Given the description of an element on the screen output the (x, y) to click on. 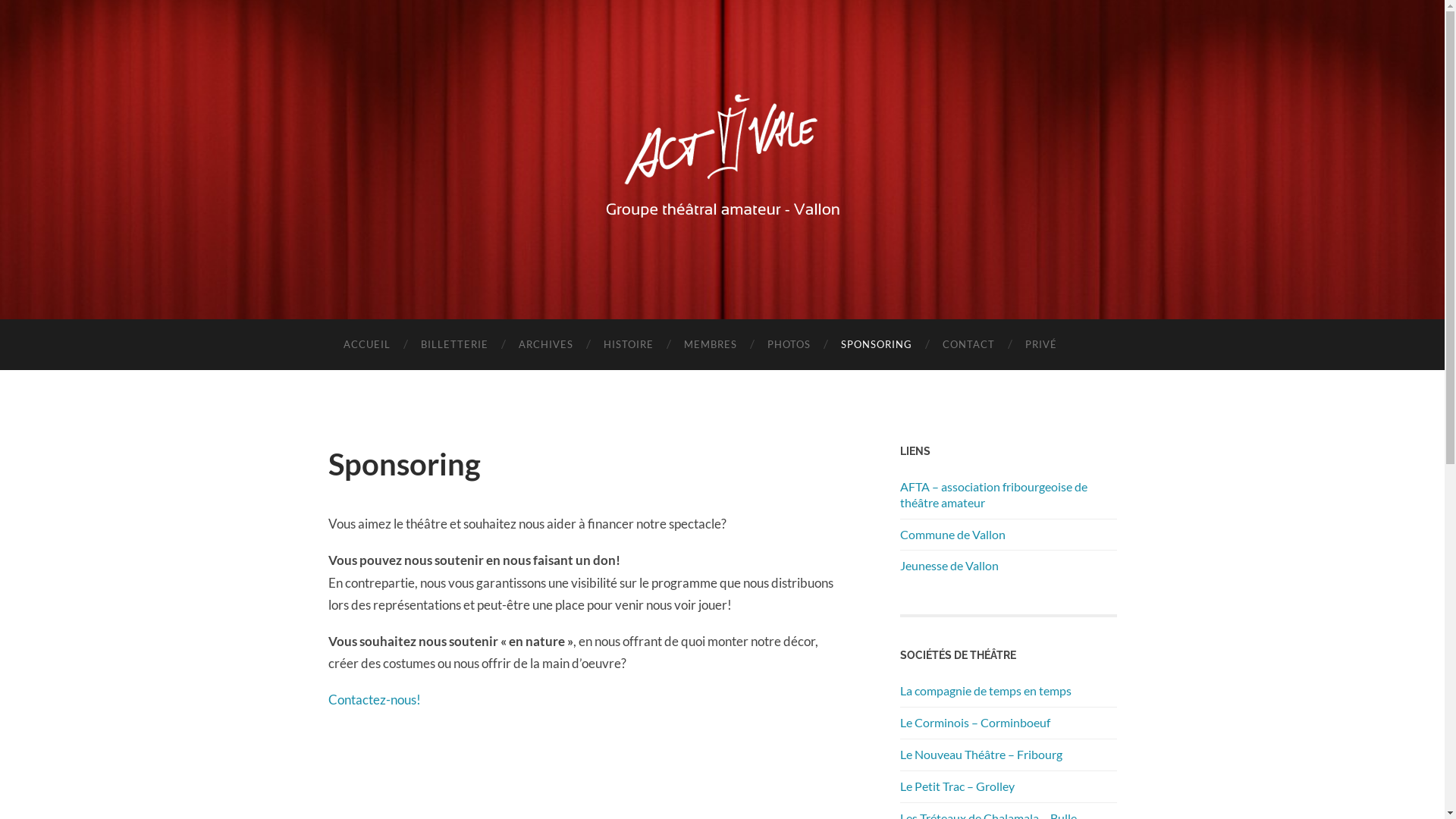
La compagnie de temps en temps Element type: text (984, 690)
HISTOIRE Element type: text (628, 344)
Jeunesse de Vallon Element type: text (948, 565)
PHOTOS Element type: text (788, 344)
Commune de Vallon Element type: text (951, 534)
MEMBRES Element type: text (710, 344)
Contactez-nous! Element type: text (373, 699)
BILLETTERIE Element type: text (453, 344)
CONTACT Element type: text (967, 344)
ARCHIVES Element type: text (545, 344)
ACCUEIL Element type: text (365, 344)
SPONSORING Element type: text (875, 344)
